Given the description of an element on the screen output the (x, y) to click on. 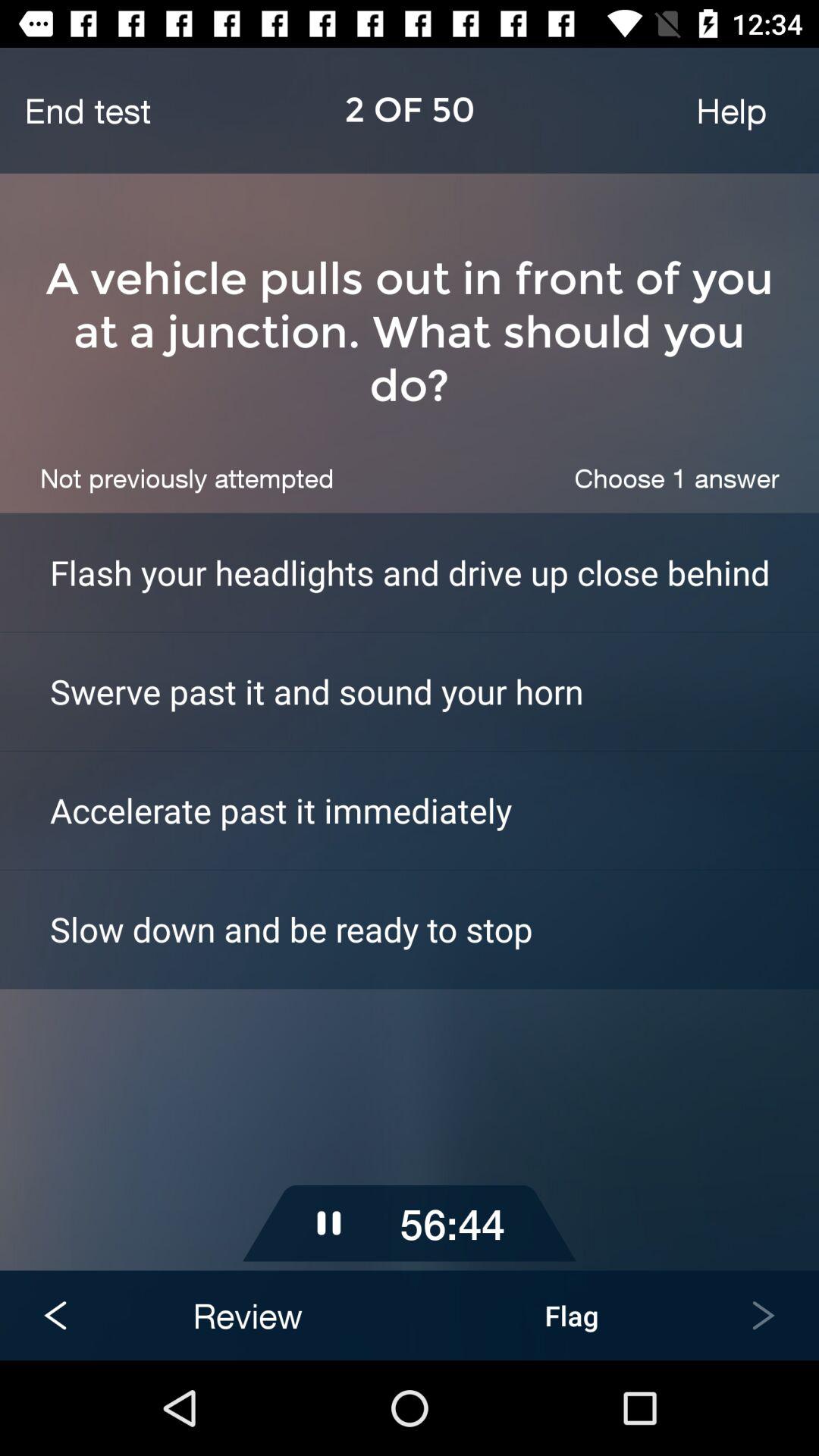
swipe until help icon (731, 110)
